Given the description of an element on the screen output the (x, y) to click on. 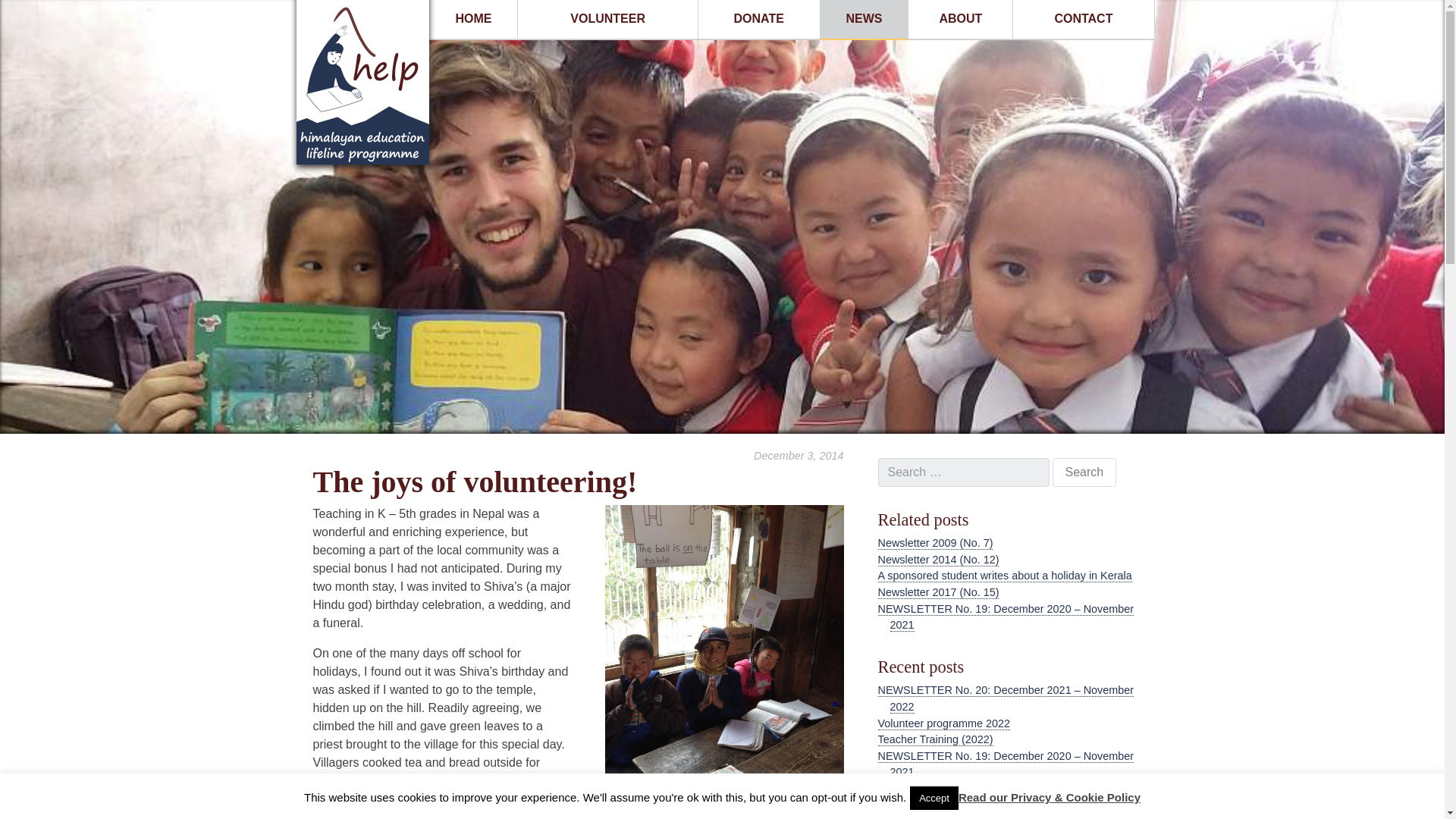
Home (472, 18)
Donate (758, 18)
News (864, 18)
CONTACT (1083, 18)
Search (1084, 471)
Covid relief in Kalimpong (937, 788)
Volunteer programme 2022 (943, 723)
Contact (1083, 18)
A sponsored student writes about a holiday in Kerala (1004, 575)
Volunteer (607, 18)
